Given the description of an element on the screen output the (x, y) to click on. 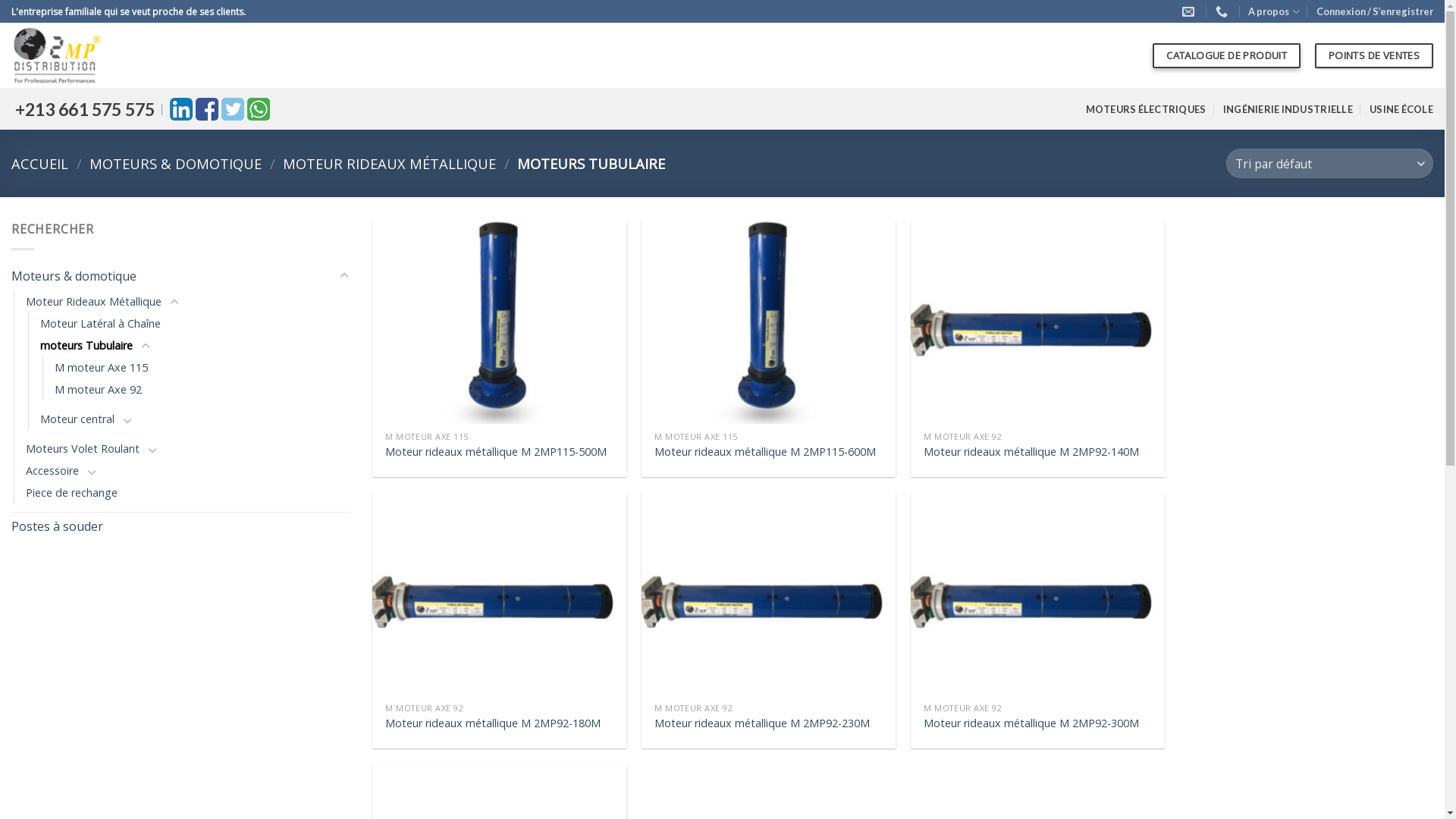
M moteur Axe 92 Element type: text (97, 389)
+213 661 575 575 Element type: hover (1223, 11)
POINTS DE VENTES Element type: text (1373, 55)
Moteurs & domotique Element type: text (172, 276)
M moteur Axe 115 Element type: text (100, 367)
ACCUEIL Element type: text (39, 162)
+213 661 575 575 Element type: text (82, 108)
MOTEURS & DOMOTIQUE Element type: text (175, 162)
Moteur central Element type: text (77, 418)
Accessoire Element type: text (51, 470)
Moteurs Volet Roulant Element type: text (82, 448)
Le Groupe 2MP - Distribution For Professional Performances Element type: hover (75, 54)
A propos Element type: text (1273, 11)
Piece de rechange Element type: text (71, 492)
moteurs Tubulaire Element type: text (86, 345)
CATALOGUE DE PRODUIT Element type: text (1226, 55)
contact@2mp-dz.com Element type: hover (1190, 11)
